Given the description of an element on the screen output the (x, y) to click on. 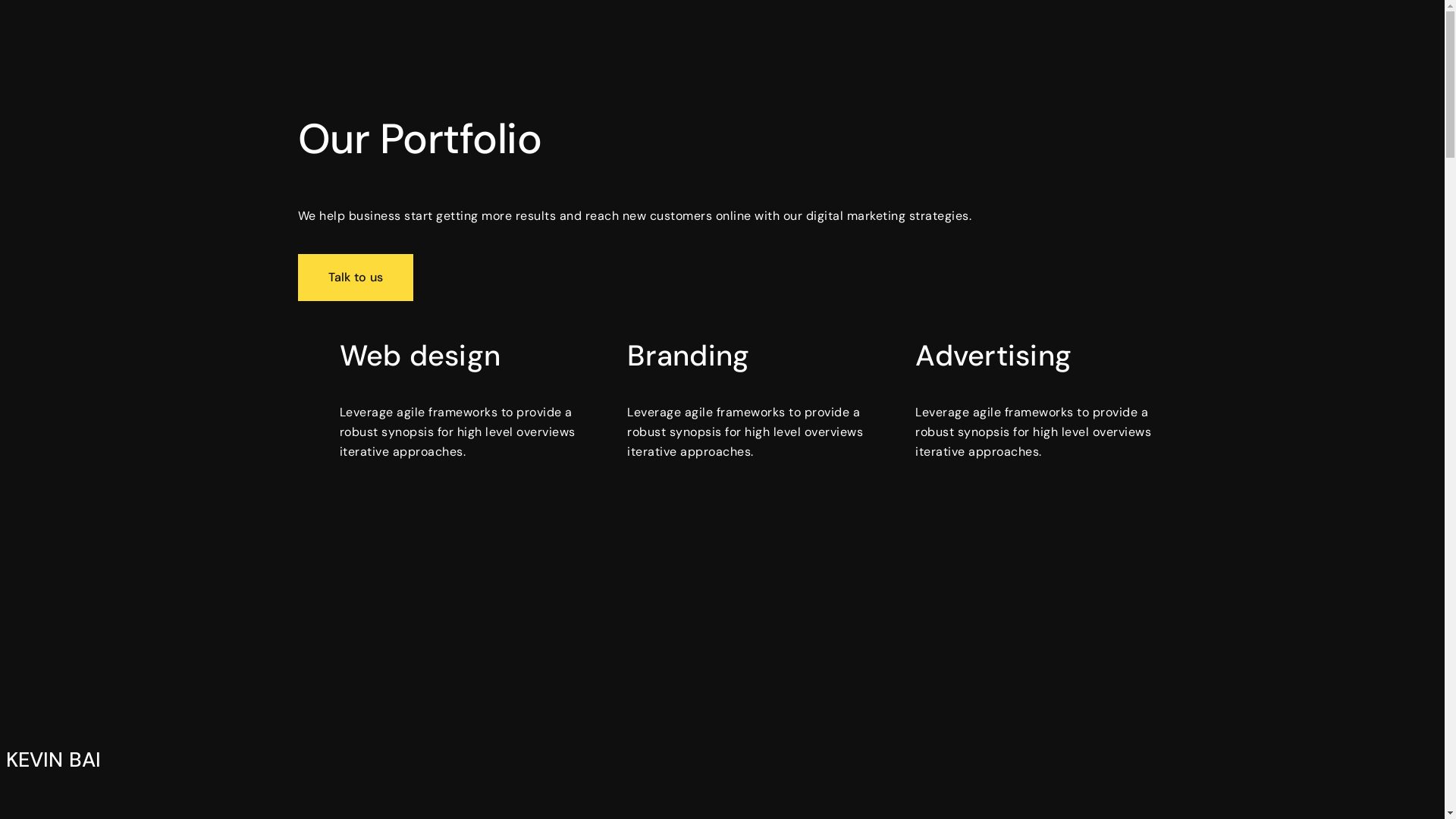
Talk to us Element type: text (355, 277)
